Given the description of an element on the screen output the (x, y) to click on. 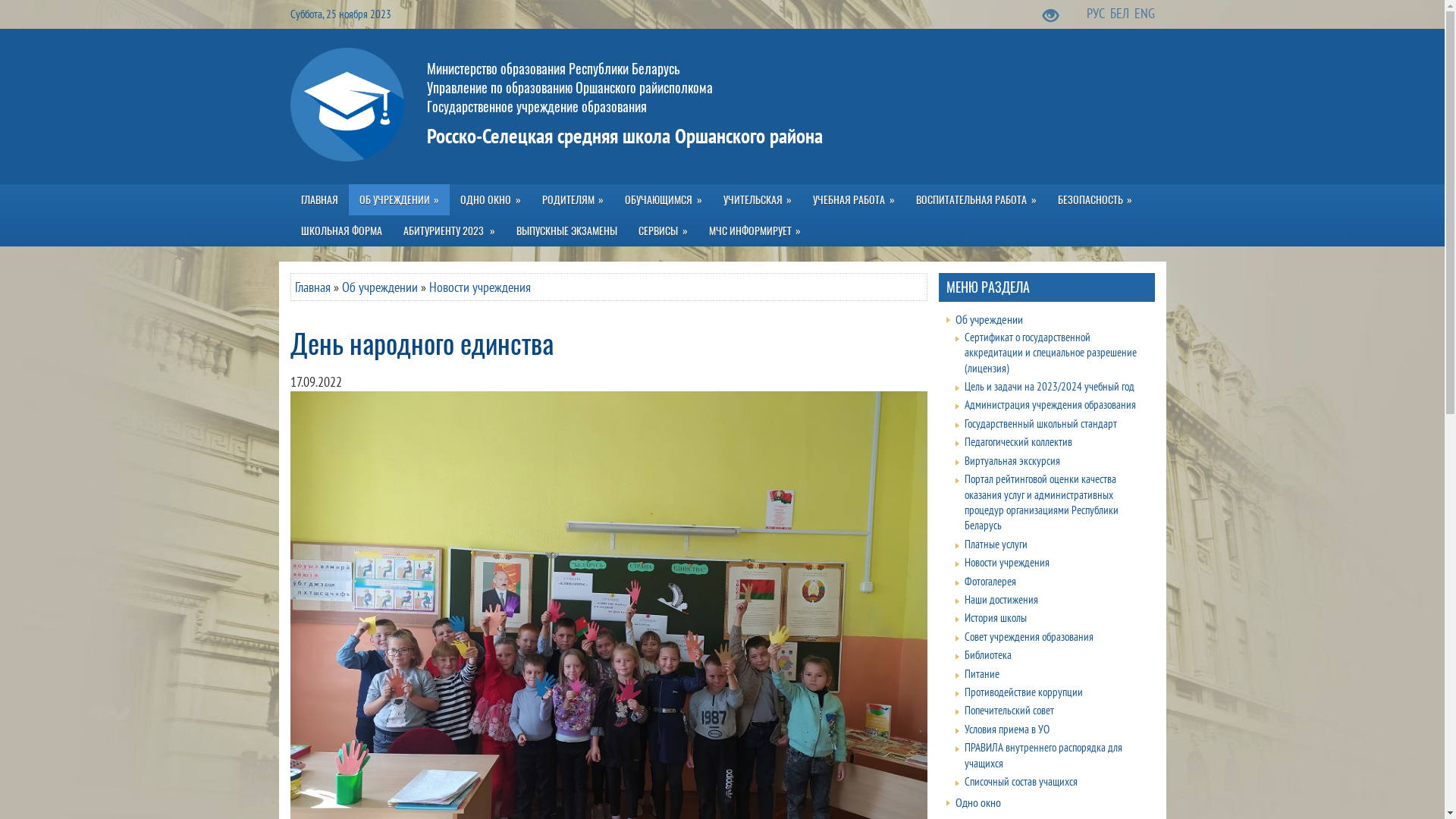
ENG Element type: text (1144, 12)
